Given the description of an element on the screen output the (x, y) to click on. 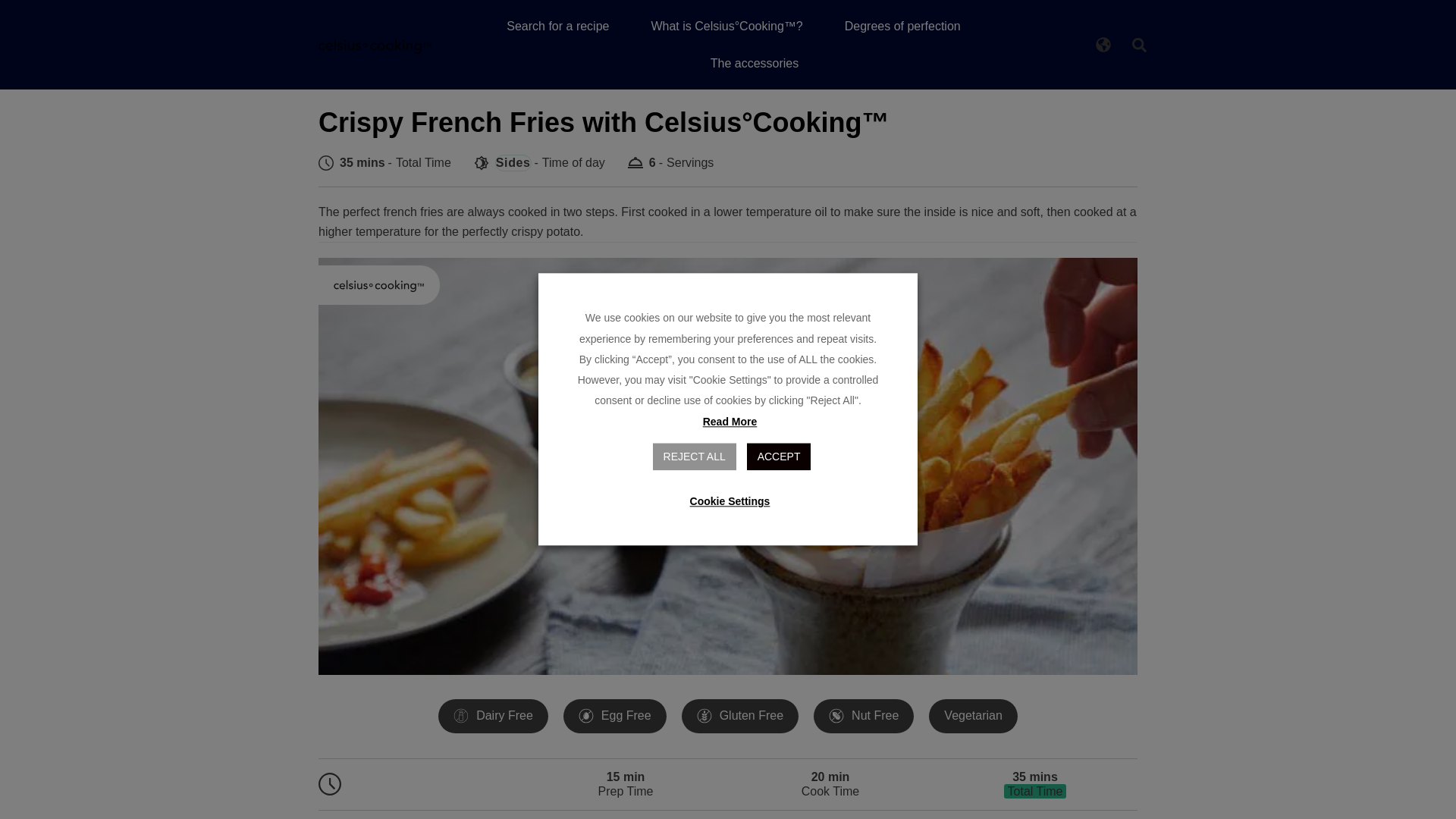
The accessories (754, 62)
search (1138, 45)
Play Video (727, 466)
Degrees of perfection (902, 25)
Search for a recipe (557, 25)
Celsius Cooking (378, 284)
Language switcher (1103, 44)
